Given the description of an element on the screen output the (x, y) to click on. 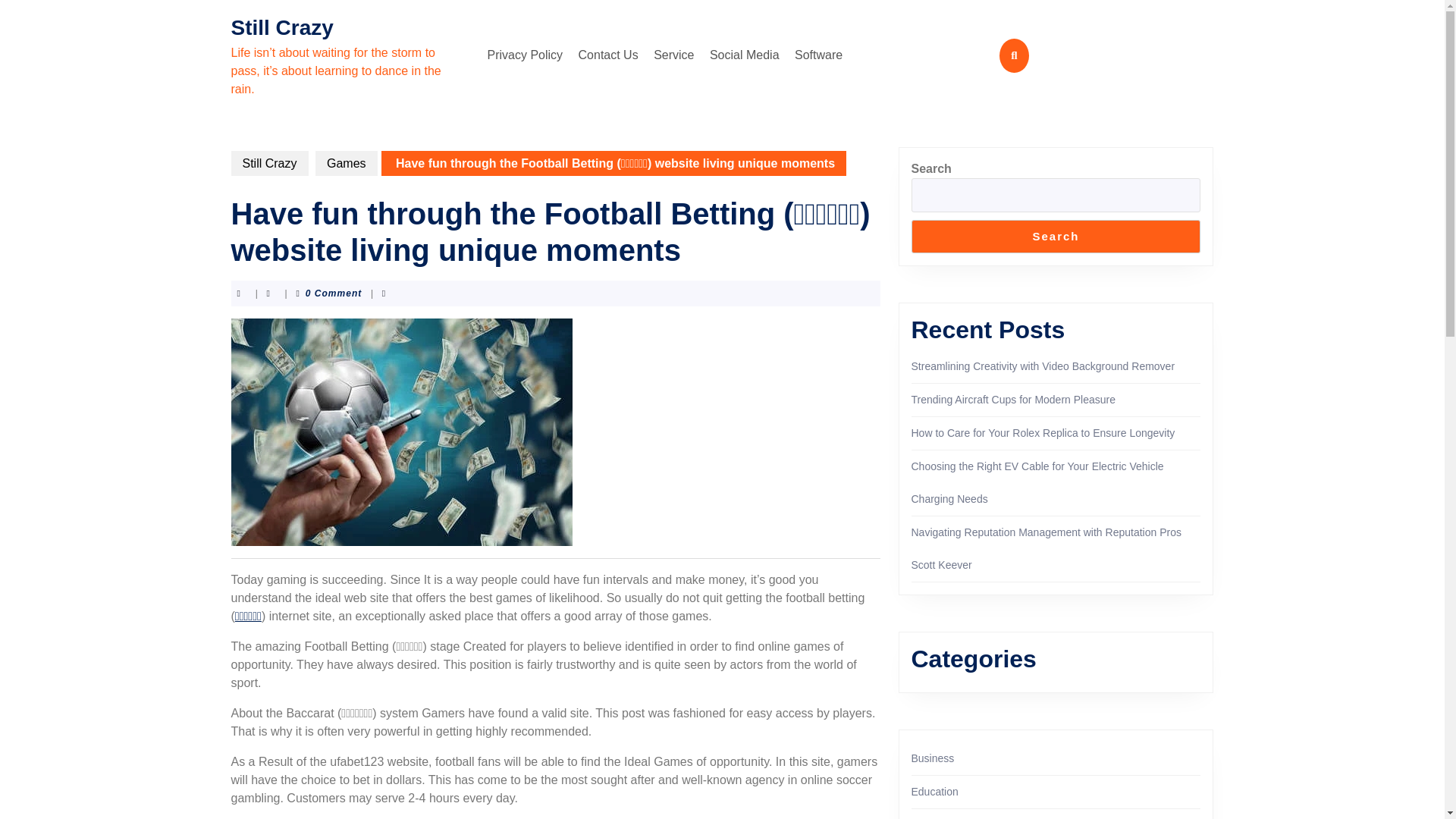
Still Crazy (281, 27)
Streamlining Creativity with Video Background Remover (1042, 366)
Still Crazy (268, 163)
How to Care for Your Rolex Replica to Ensure Longevity (1042, 432)
Education (934, 791)
Social Media (744, 55)
Service (673, 55)
Search (1056, 236)
Games (346, 163)
